Given the description of an element on the screen output the (x, y) to click on. 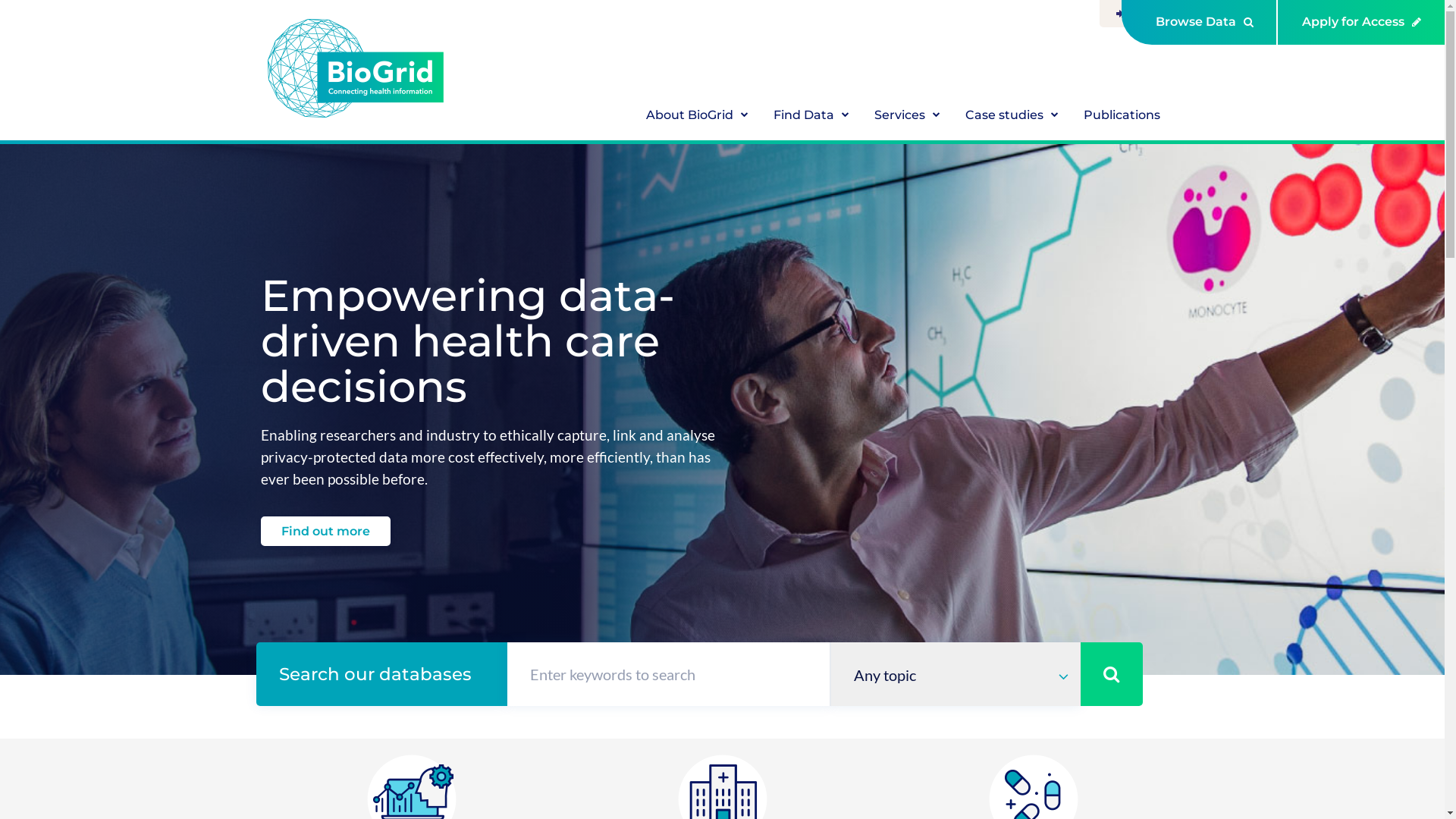
Case studies Element type: text (1011, 116)
LOGIN Element type: text (1138, 13)
Browse Data Element type: text (1199, 22)
Find out more Element type: text (325, 531)
Services Element type: text (906, 116)
Find Data Element type: text (811, 116)
About BioGrid Element type: text (696, 116)
Apply for Access Element type: text (1361, 22)
Publications Element type: text (1121, 116)
